Given the description of an element on the screen output the (x, y) to click on. 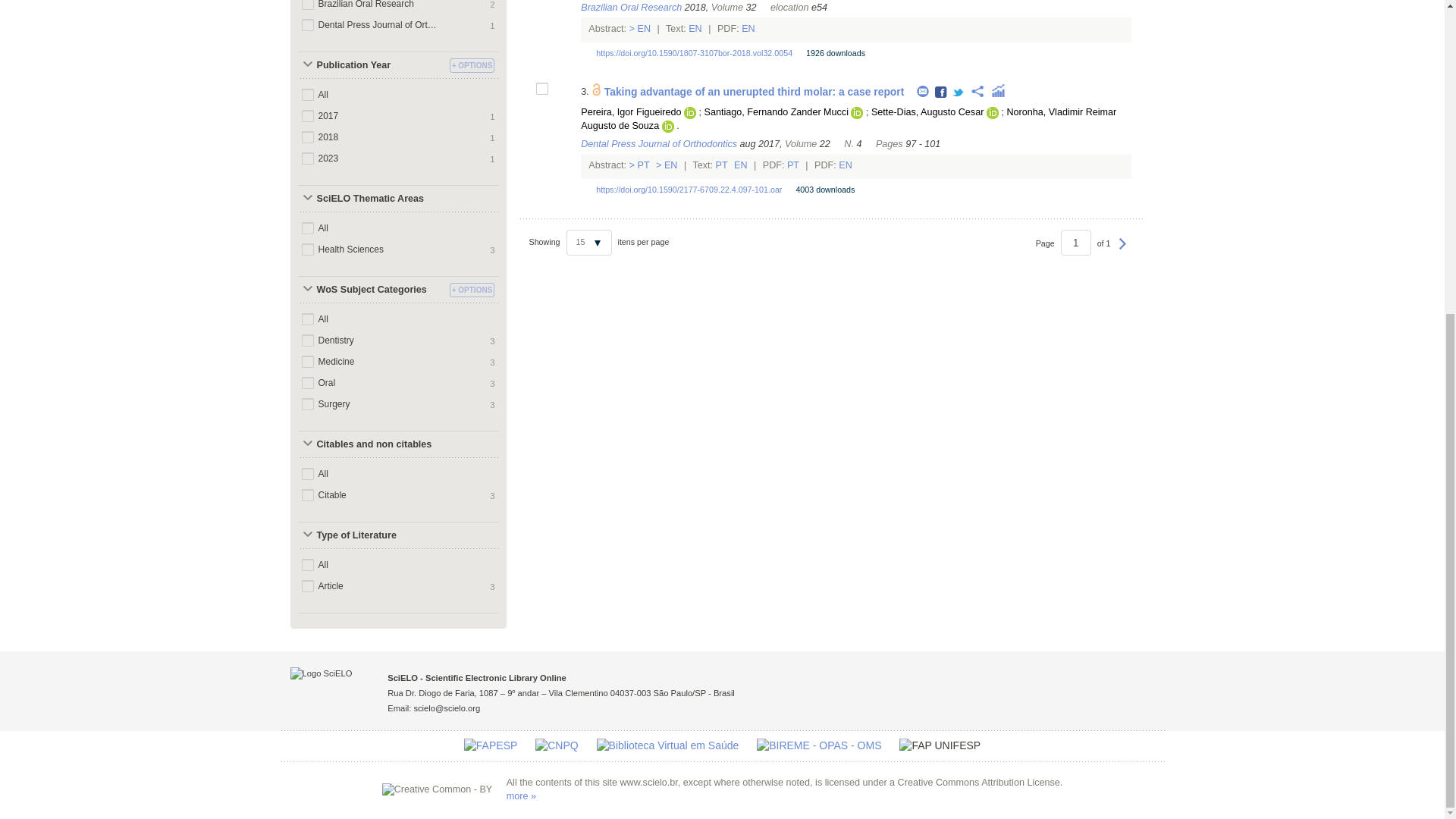
WoS Subject Categories (371, 289)
SciELO Thematic Areas (371, 198)
Citables and non citables (371, 444)
Publication Year (371, 65)
Citables and non citables (371, 444)
1 (1075, 242)
Type of Literature (371, 535)
Type of Literature (371, 535)
Options (472, 65)
Publication Year (371, 65)
